Given the description of an element on the screen output the (x, y) to click on. 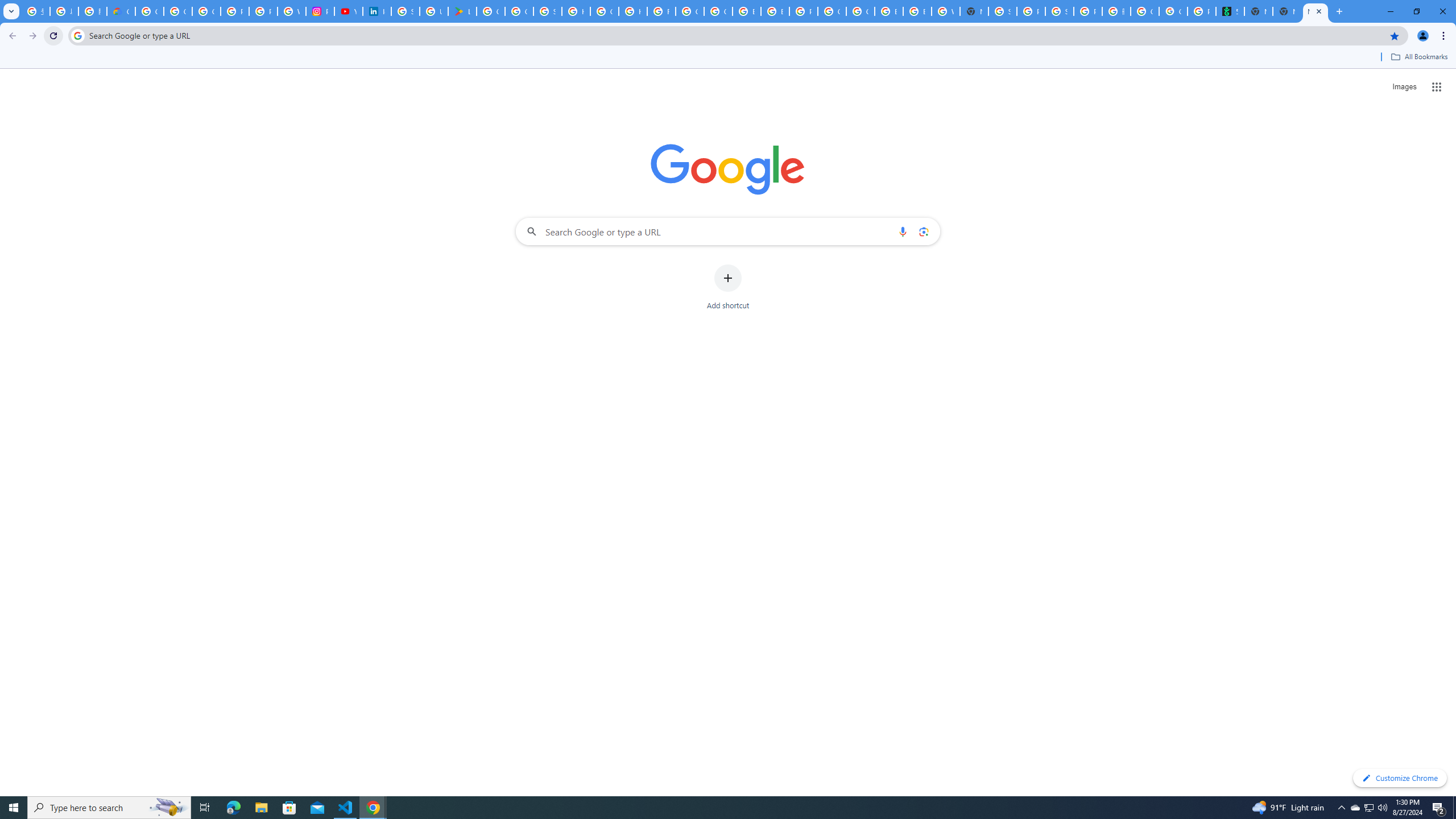
Google Cloud Platform (831, 11)
Sign in - Google Accounts (1002, 11)
New Tab (973, 11)
